Given the description of an element on the screen output the (x, y) to click on. 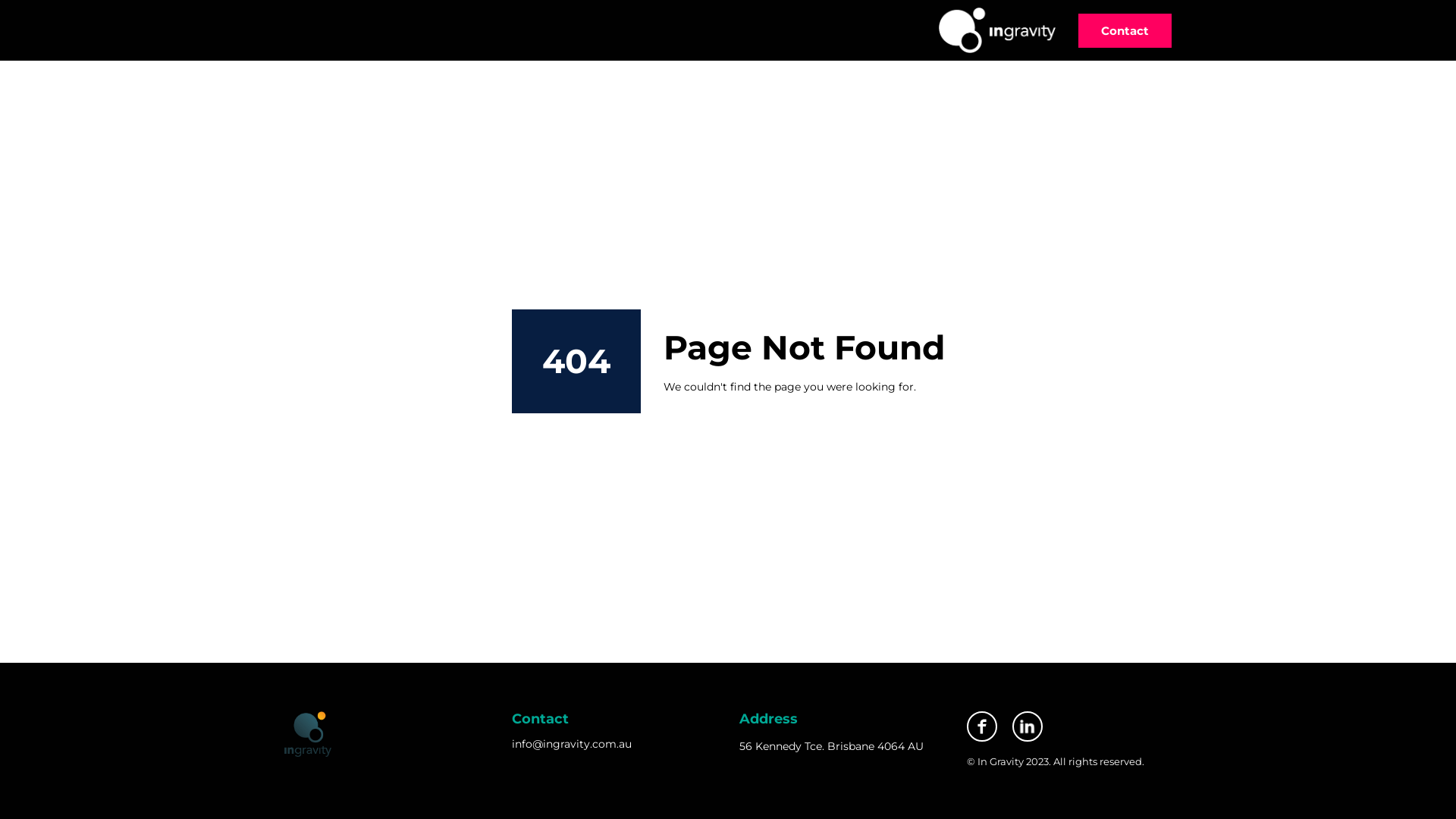
info@ingravity.com.au Element type: text (571, 744)
Contact Element type: text (1124, 30)
